Given the description of an element on the screen output the (x, y) to click on. 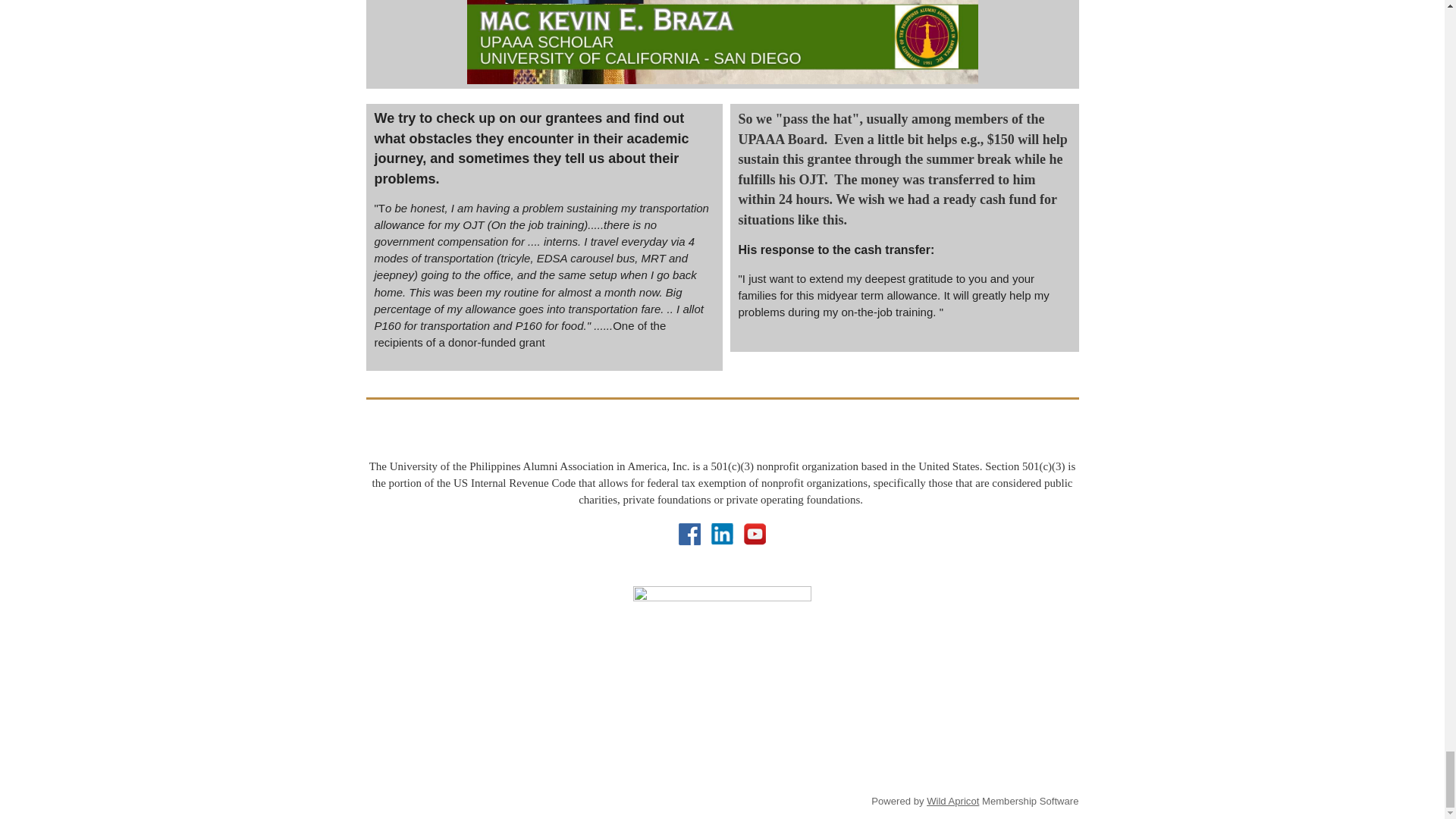
Wild Apricot (952, 800)
